Given the description of an element on the screen output the (x, y) to click on. 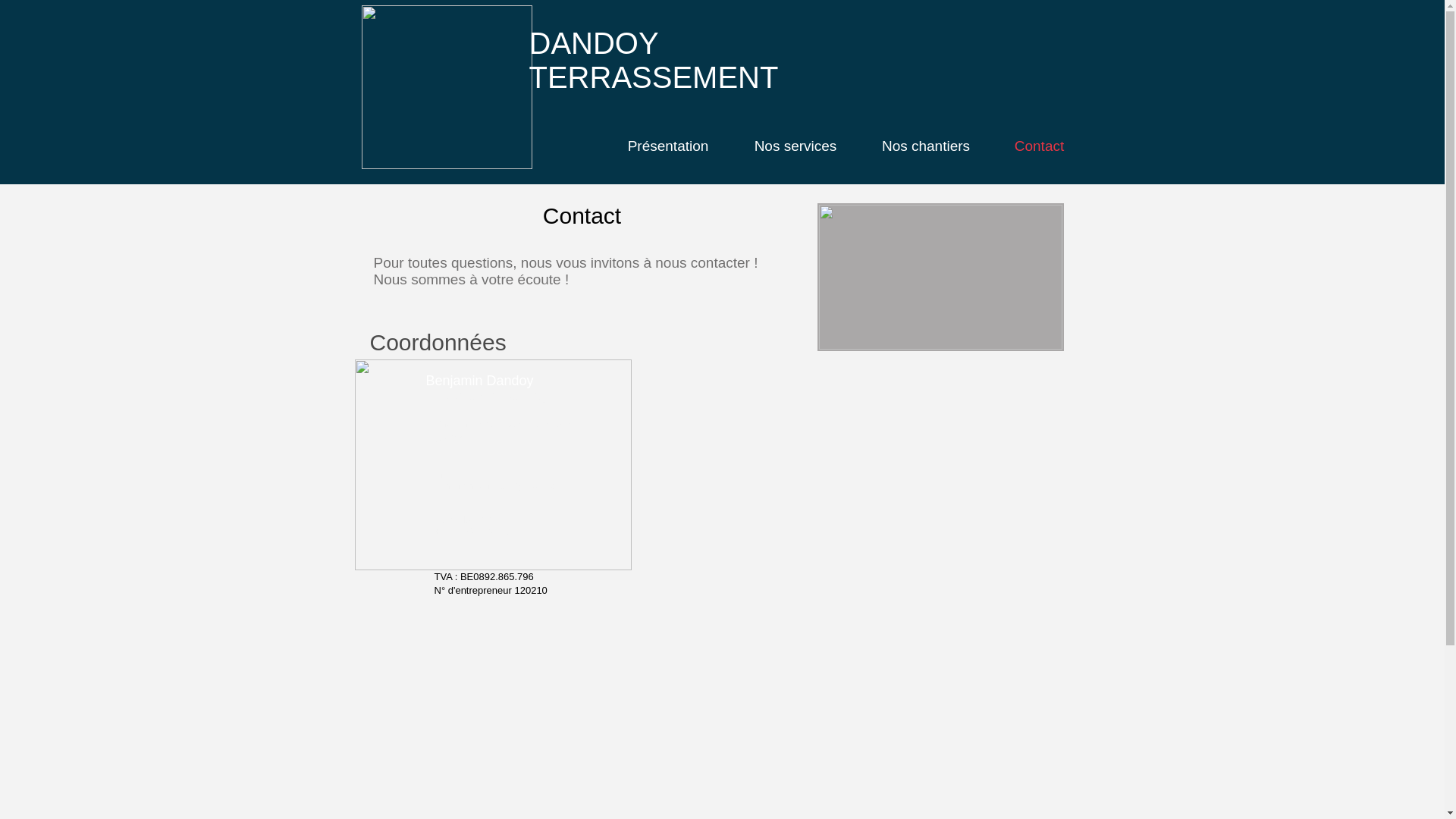
TERRASSEMENT Element type: text (653, 77)
DANDOY Element type: text (593, 42)
benjamin.dandoy@gmail.com Element type: text (498, 485)
Contact Element type: text (1038, 146)
Contact-01 vide.png Element type: hover (492, 464)
Nos services Element type: text (795, 146)
logo.png Element type: hover (445, 87)
Nos chantiers Element type: text (925, 146)
